Given the description of an element on the screen output the (x, y) to click on. 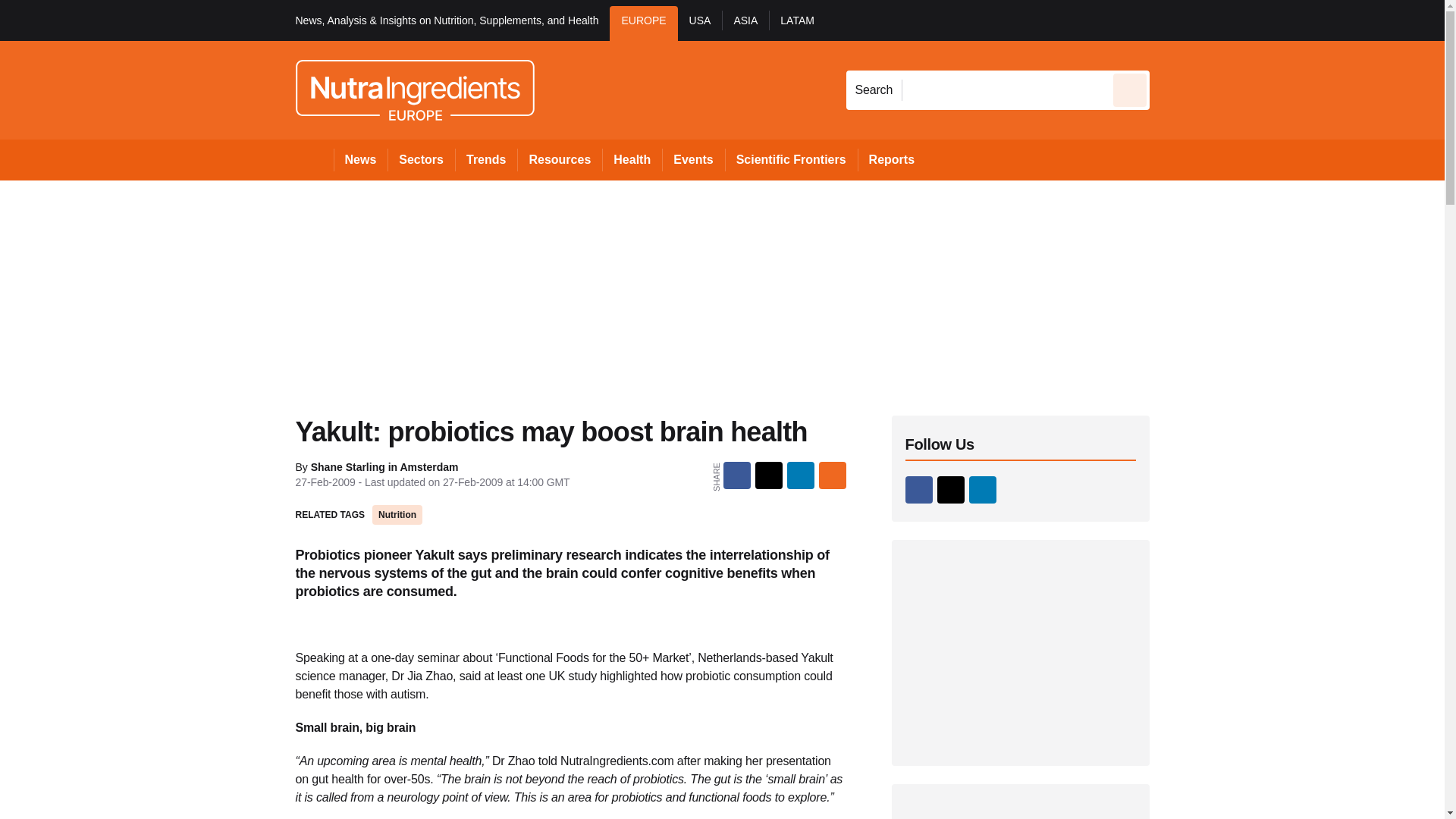
3rd party ad content (1020, 652)
3rd party ad content (1020, 810)
Sectors (420, 159)
Sign in (1171, 20)
ASIA (745, 22)
Send (1129, 89)
SUBSCRIBE (1318, 20)
Sign out (1174, 20)
News (360, 159)
